Given the description of an element on the screen output the (x, y) to click on. 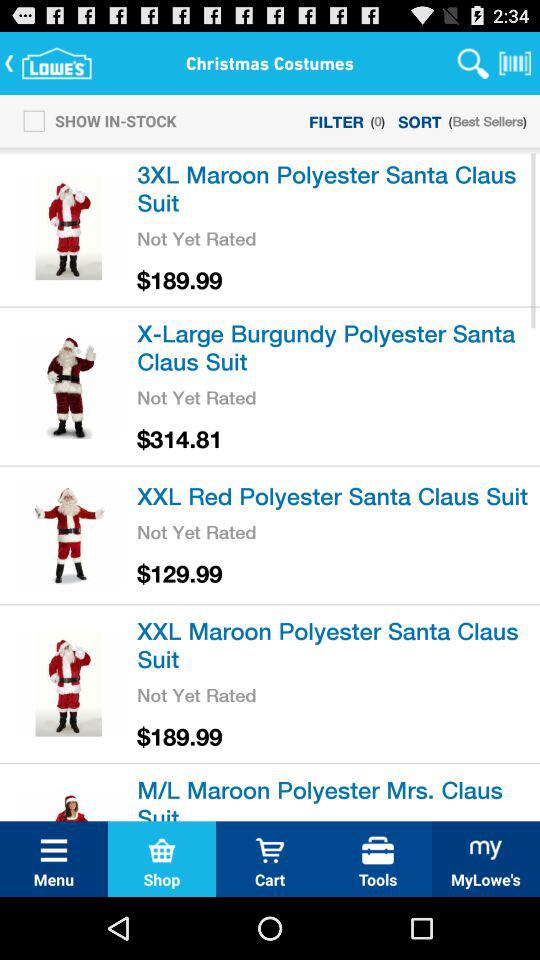
press the item to the left of the filter icon (94, 120)
